Given the description of an element on the screen output the (x, y) to click on. 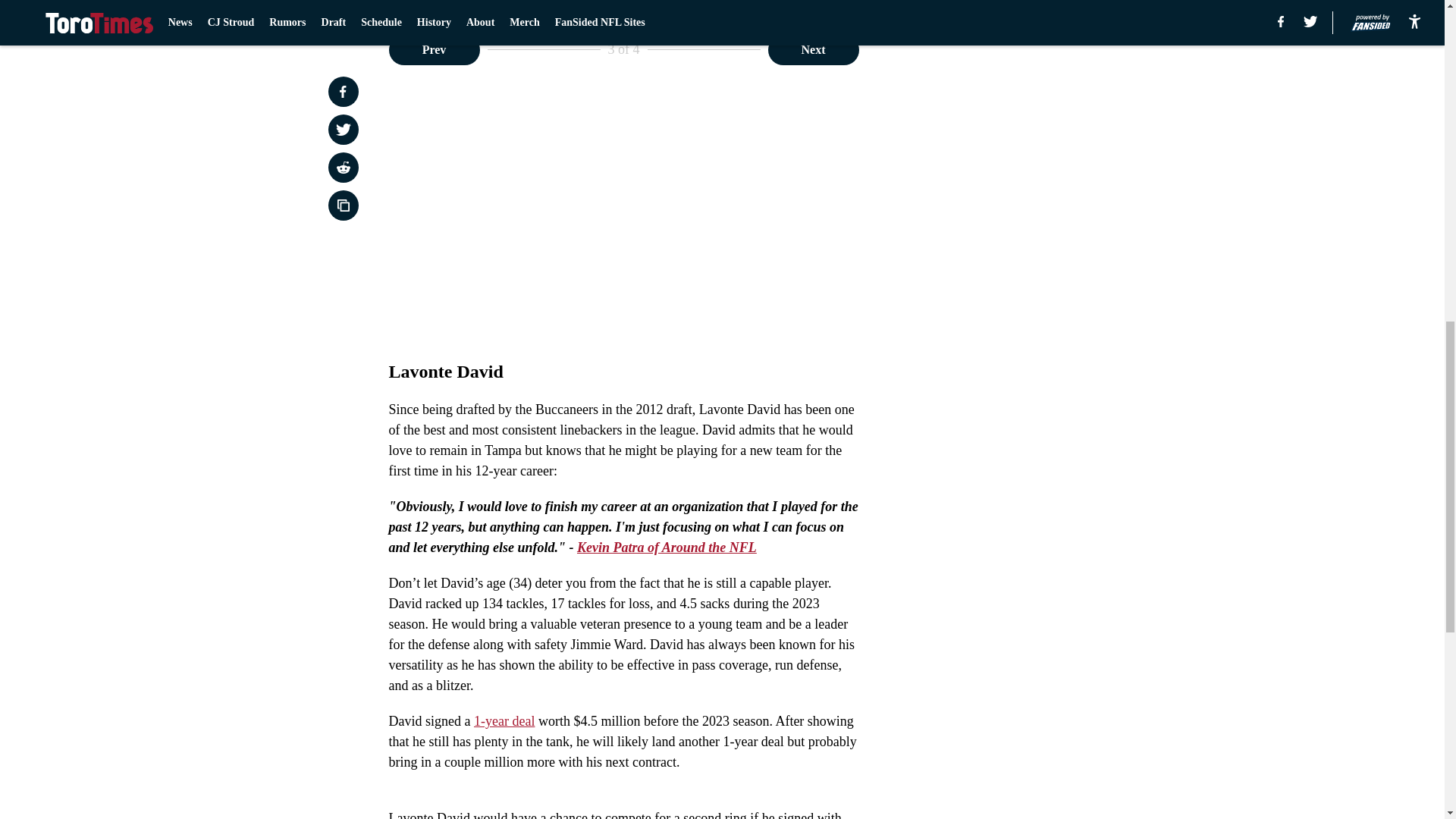
Next (813, 50)
Prev (433, 50)
Kevin Patra of Around the NFL (666, 547)
1-year deal (504, 720)
